Given the description of an element on the screen output the (x, y) to click on. 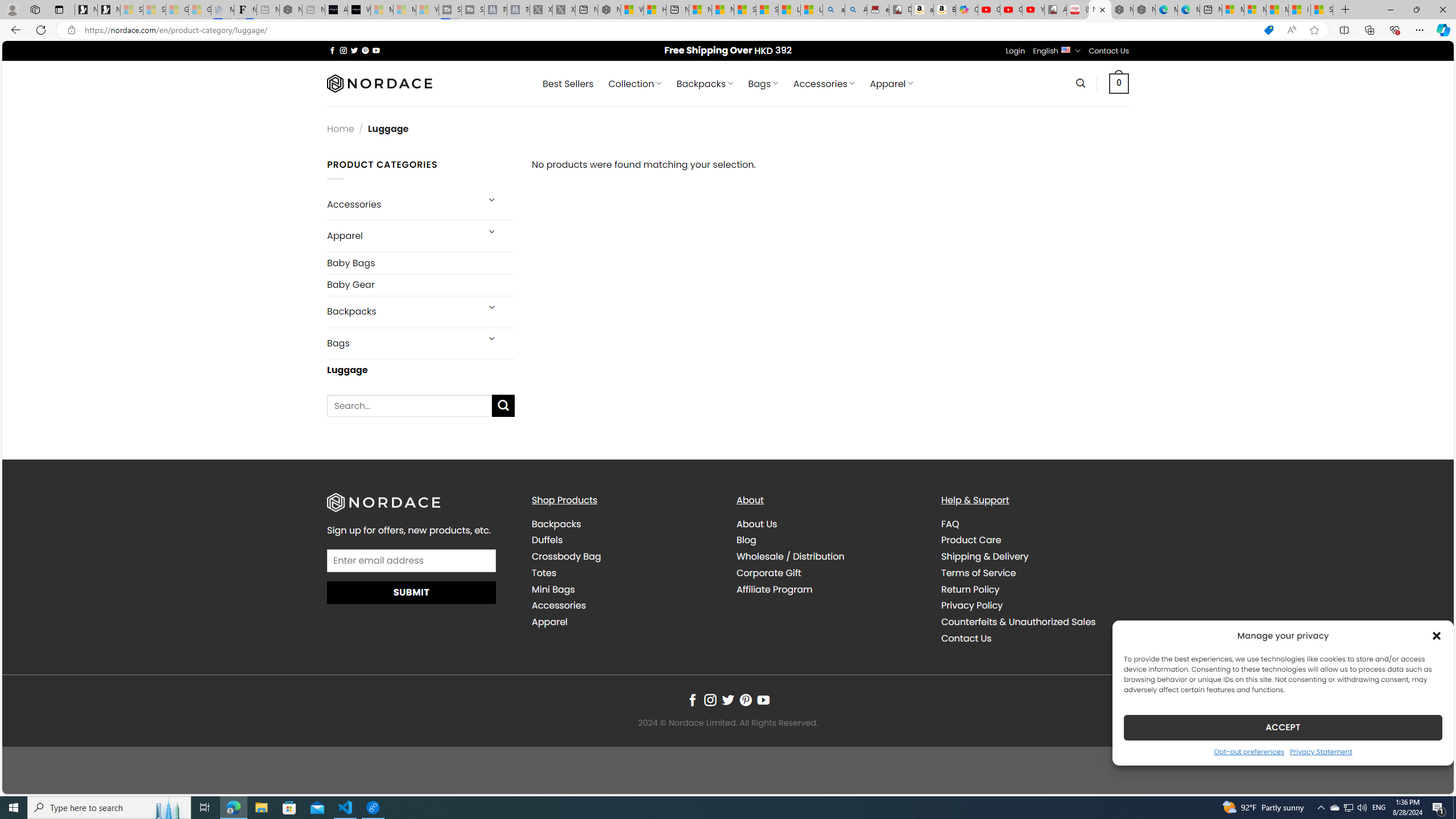
Shipping & Delivery (984, 556)
  0   (1118, 83)
Privacy Policy (1034, 605)
Product Care (970, 540)
Class: cmplz-close (1436, 635)
AI Voice Changer for PC and Mac - Voice.ai (336, 9)
Amazon Echo Dot PNG - Search Images (856, 9)
